Given the description of an element on the screen output the (x, y) to click on. 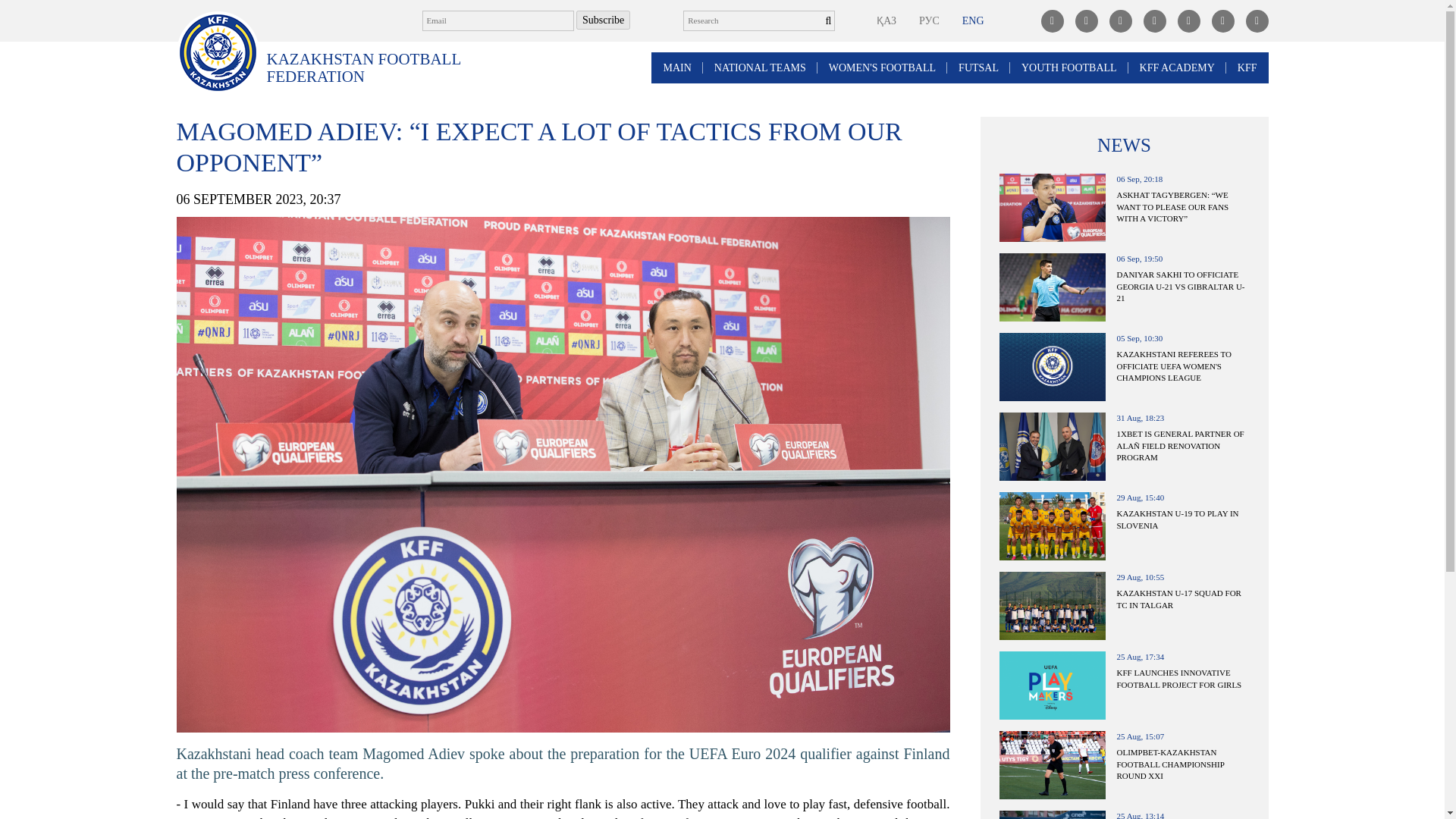
ENG (973, 20)
MAIN (675, 67)
Subscribe (603, 20)
KAZAKHSTAN FOOTBALL FEDERATION (372, 67)
WOMEN'S FOOTBALL (881, 67)
NATIONAL TEAMS (759, 67)
Subscribe (603, 20)
